Given the description of an element on the screen output the (x, y) to click on. 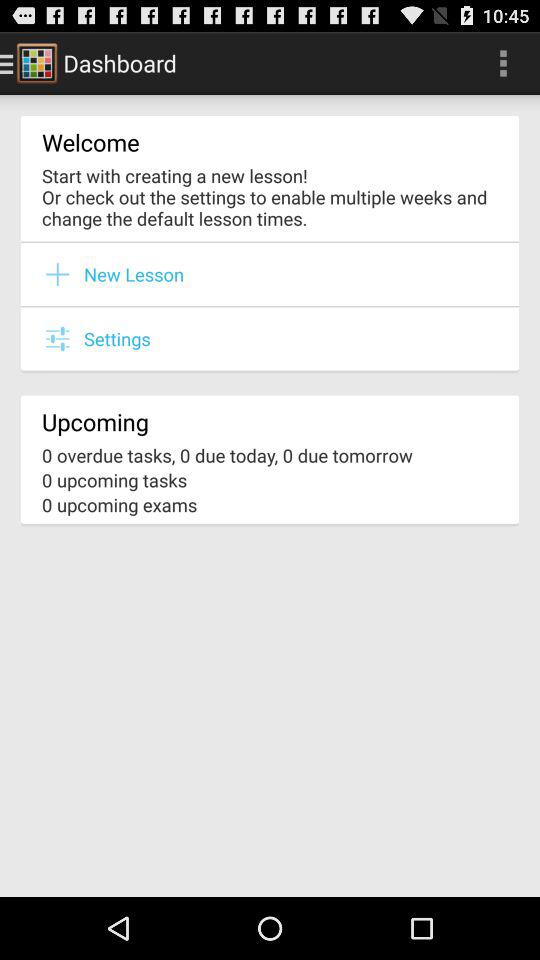
press the icon next to the dashboard icon (503, 62)
